Given the description of an element on the screen output the (x, y) to click on. 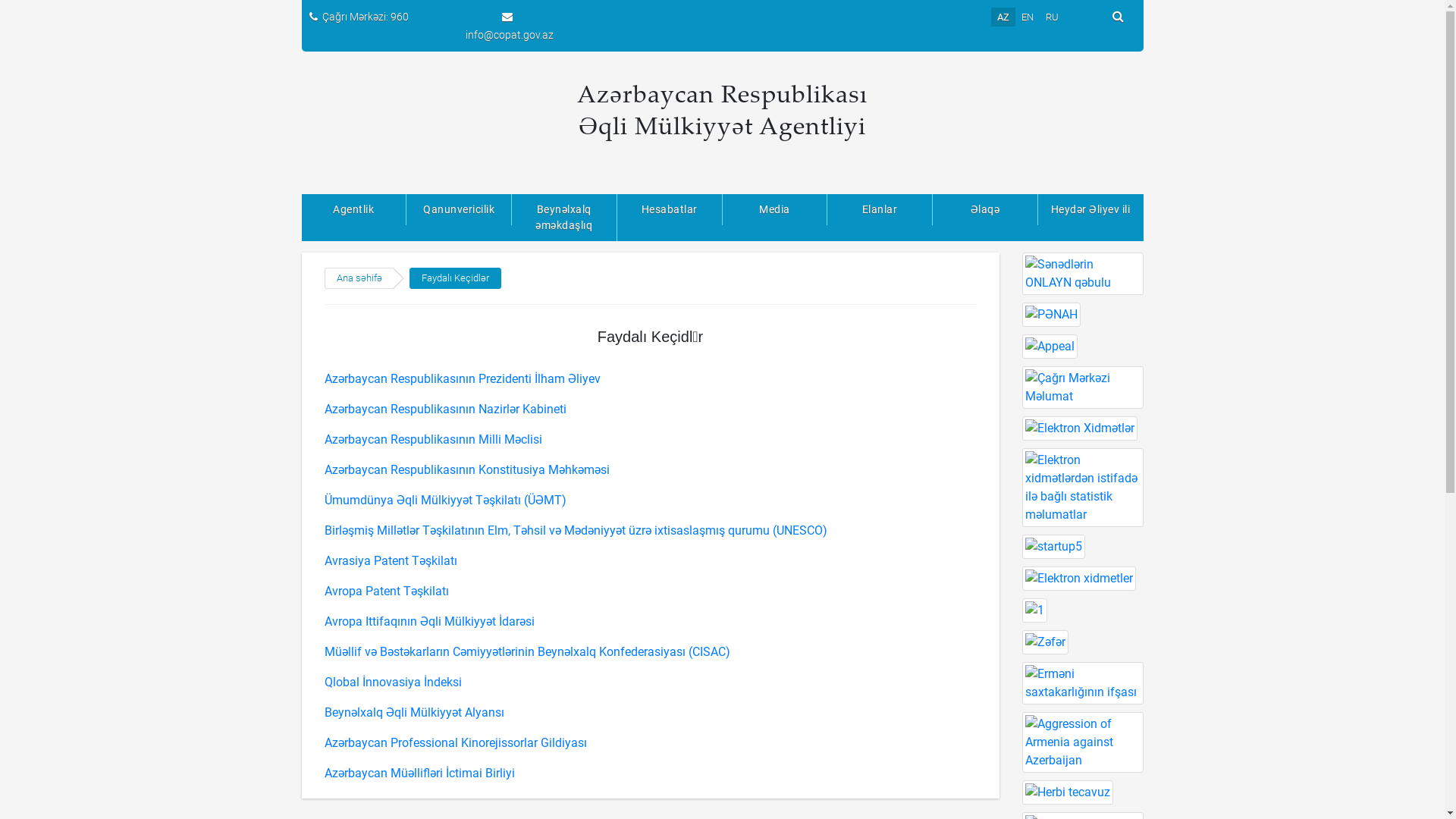
Agentlik Element type: text (354, 209)
Hesabatlar Element type: text (669, 209)
Media Element type: text (774, 209)
AZ Element type: text (1003, 16)
EN Element type: text (1027, 16)
Qanunvericilik Element type: text (458, 209)
Elanlar Element type: text (879, 209)
RU Element type: text (1051, 16)
